Given the description of an element on the screen output the (x, y) to click on. 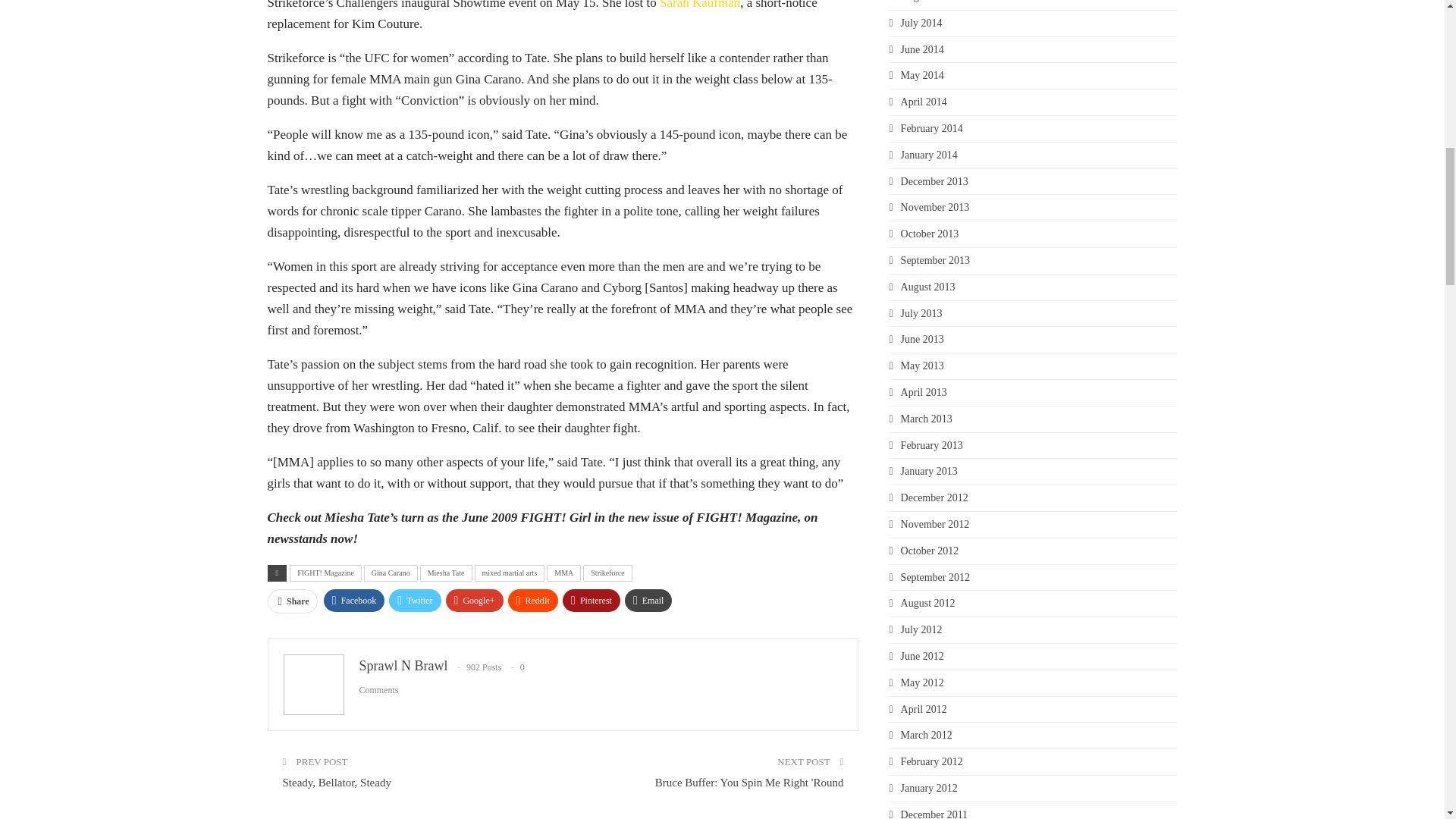
Gina Carano (390, 573)
ReddIt (533, 599)
Facebook (354, 599)
Strikeforce (607, 573)
Miesha Tate (445, 573)
mixed martial arts (509, 573)
Sarah Kaufman (699, 4)
MMA (563, 573)
Steady, Bellator, Steady (336, 782)
Sprawl N Brawl (403, 665)
